Given the description of an element on the screen output the (x, y) to click on. 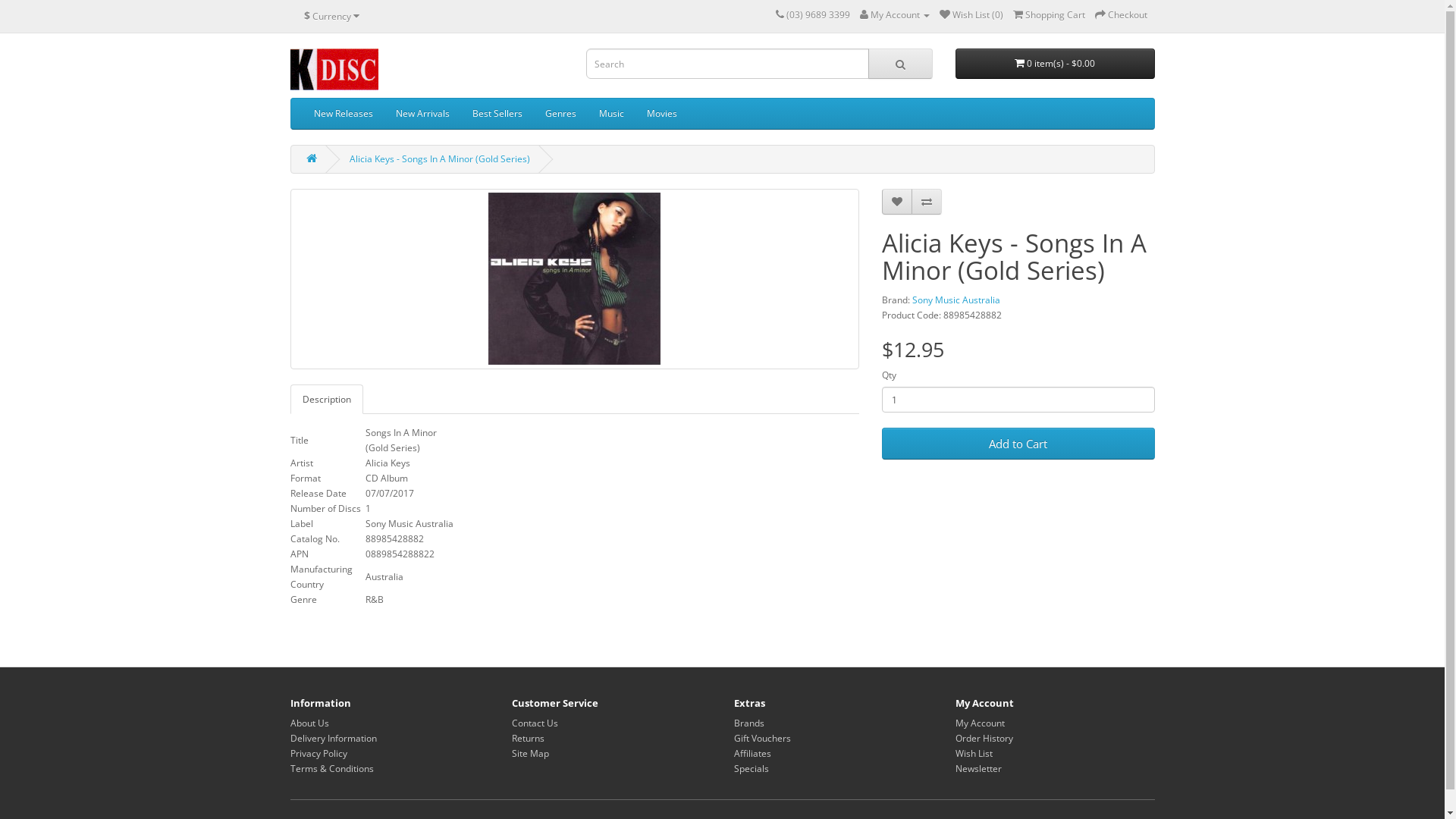
Brands Element type: text (749, 722)
Alicia Keys - Songs In A Minor (Gold Series) Element type: hover (573, 278)
Best Sellers Element type: text (497, 113)
$ Currency Element type: text (331, 15)
Description Element type: text (325, 399)
Gift Vouchers Element type: text (762, 737)
Specials Element type: text (751, 768)
Site Map Element type: text (530, 752)
Music Element type: text (610, 113)
Alicia Keys - Songs In A Minor (Gold Series) Element type: hover (574, 278)
Privacy Policy Element type: text (317, 752)
My Account Element type: text (979, 722)
New Arrivals Element type: text (421, 113)
Add to Cart Element type: text (1017, 443)
Sony Music Australia Element type: text (955, 299)
Checkout Element type: text (1121, 14)
Newsletter Element type: text (978, 768)
Delivery Information Element type: text (332, 737)
New Releases Element type: text (342, 113)
Affiliates Element type: text (752, 752)
My Account Element type: text (894, 14)
Shopping Cart Element type: text (1049, 14)
Wish List (0) Element type: text (970, 14)
Contact Us Element type: text (534, 722)
Kdisc Music and Video Element type: hover (333, 69)
Order History Element type: text (984, 737)
Movies Element type: text (661, 113)
Alicia Keys - Songs In A Minor (Gold Series) Element type: text (438, 158)
Terms & Conditions Element type: text (331, 768)
0 item(s) - $0.00 Element type: text (1054, 63)
Wish List Element type: text (973, 752)
About Us Element type: text (308, 722)
Returns Element type: text (527, 737)
Genres Element type: text (560, 113)
